Given the description of an element on the screen output the (x, y) to click on. 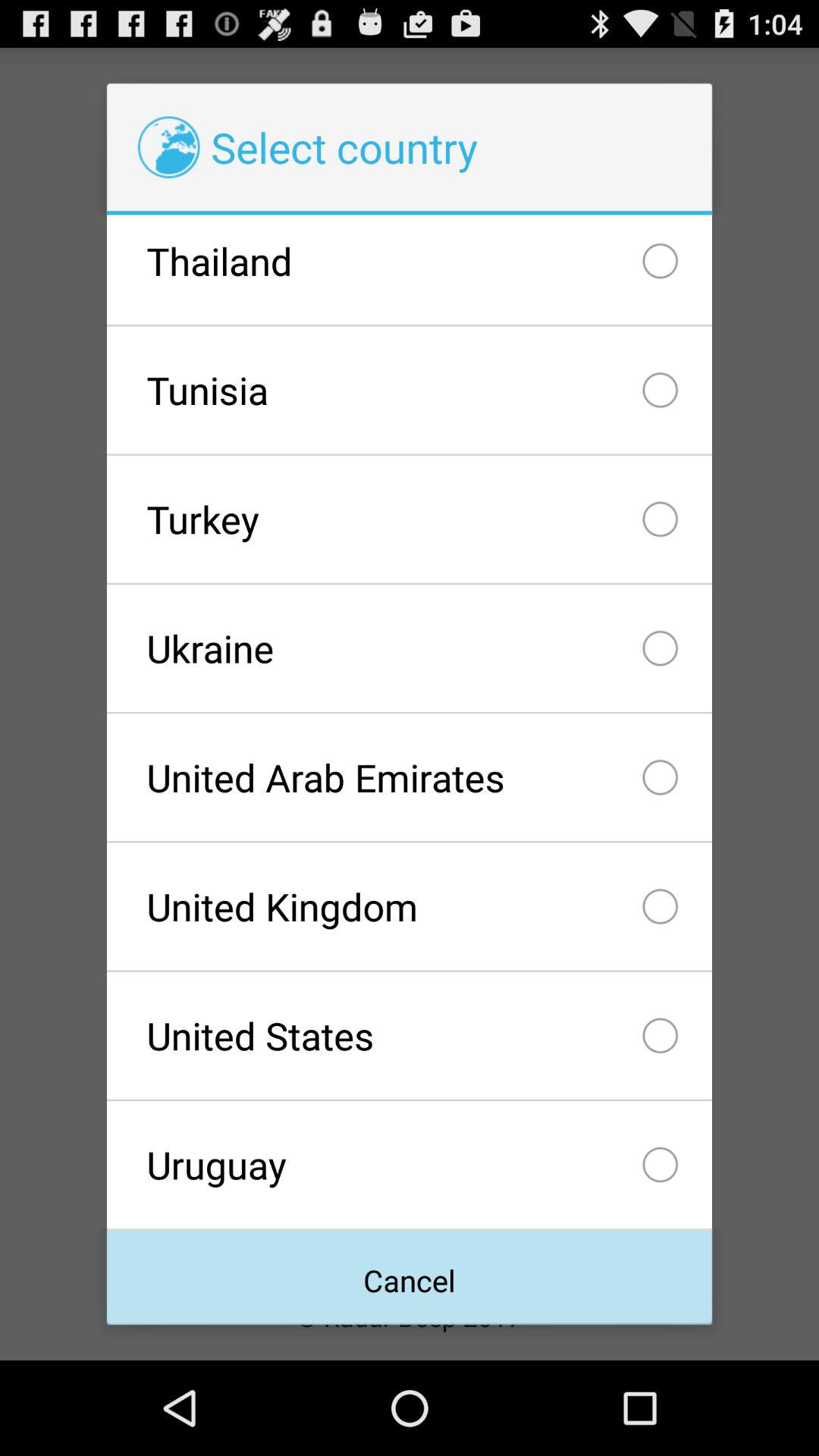
scroll until uruguay (409, 1164)
